Given the description of an element on the screen output the (x, y) to click on. 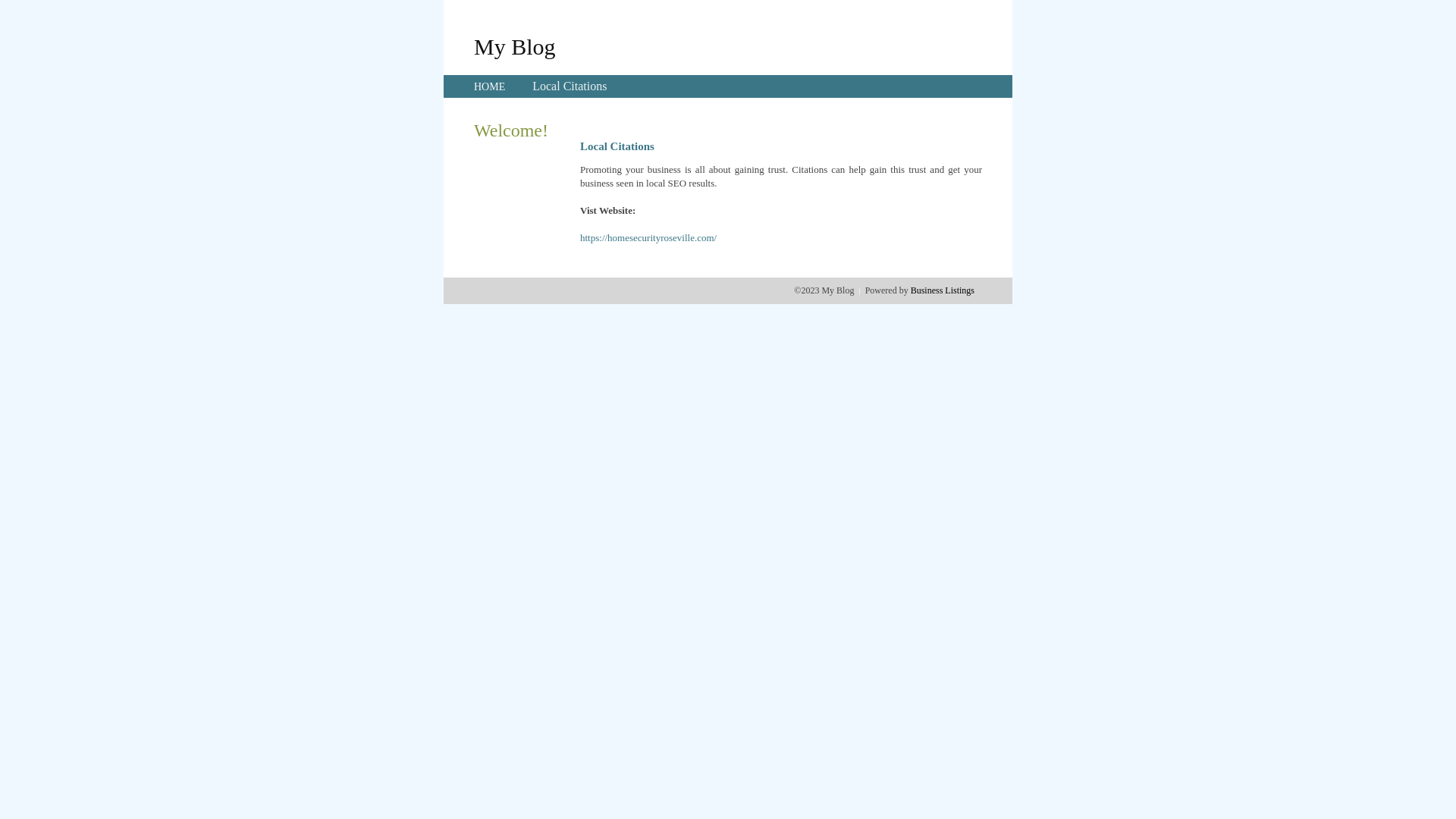
Business Listings Element type: text (942, 290)
https://homesecurityroseville.com/ Element type: text (648, 237)
My Blog Element type: text (514, 46)
Local Citations Element type: text (569, 85)
HOME Element type: text (489, 86)
